Given the description of an element on the screen output the (x, y) to click on. 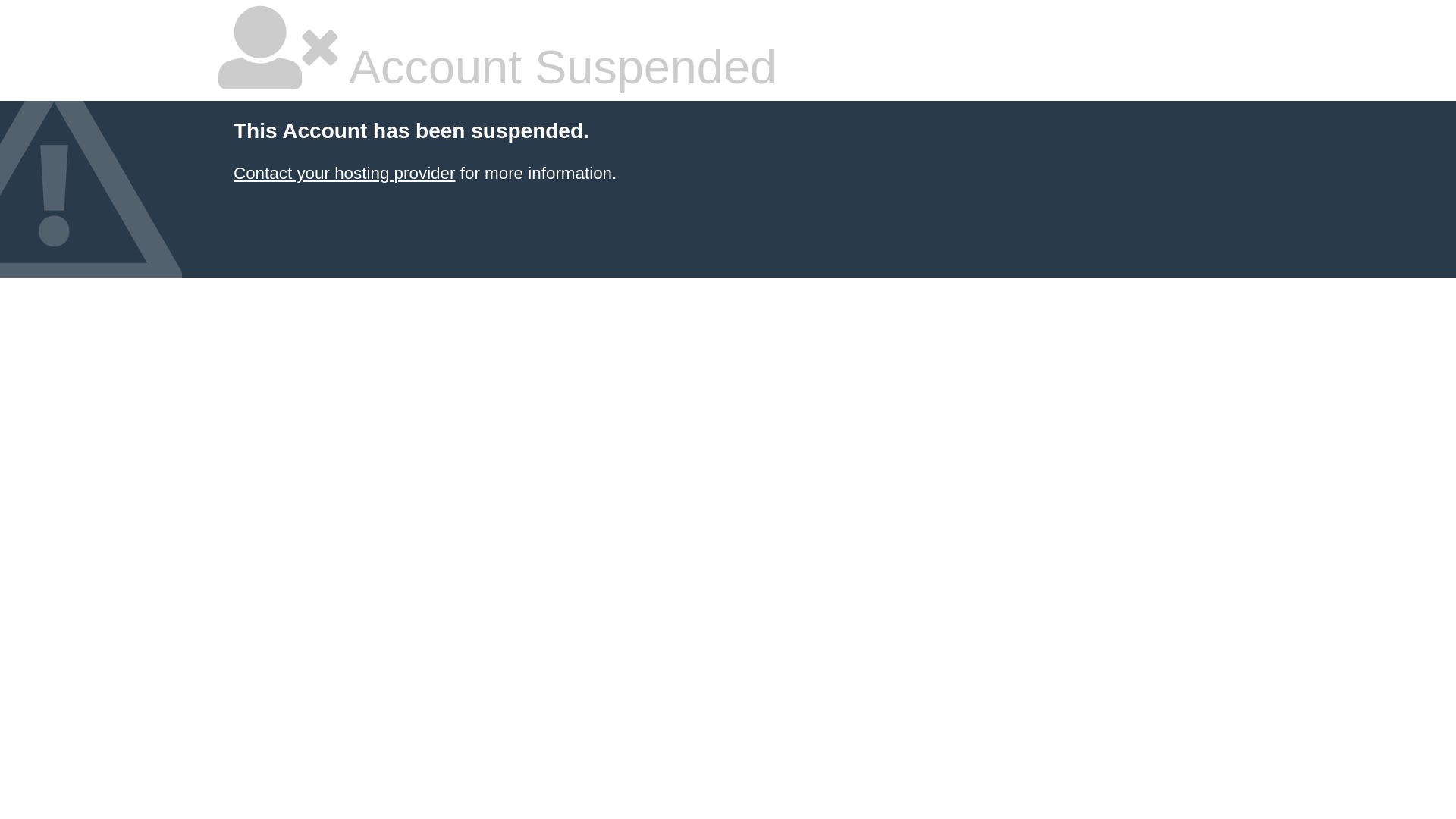
Contact your hosting provider Element type: text (344, 172)
